Given the description of an element on the screen output the (x, y) to click on. 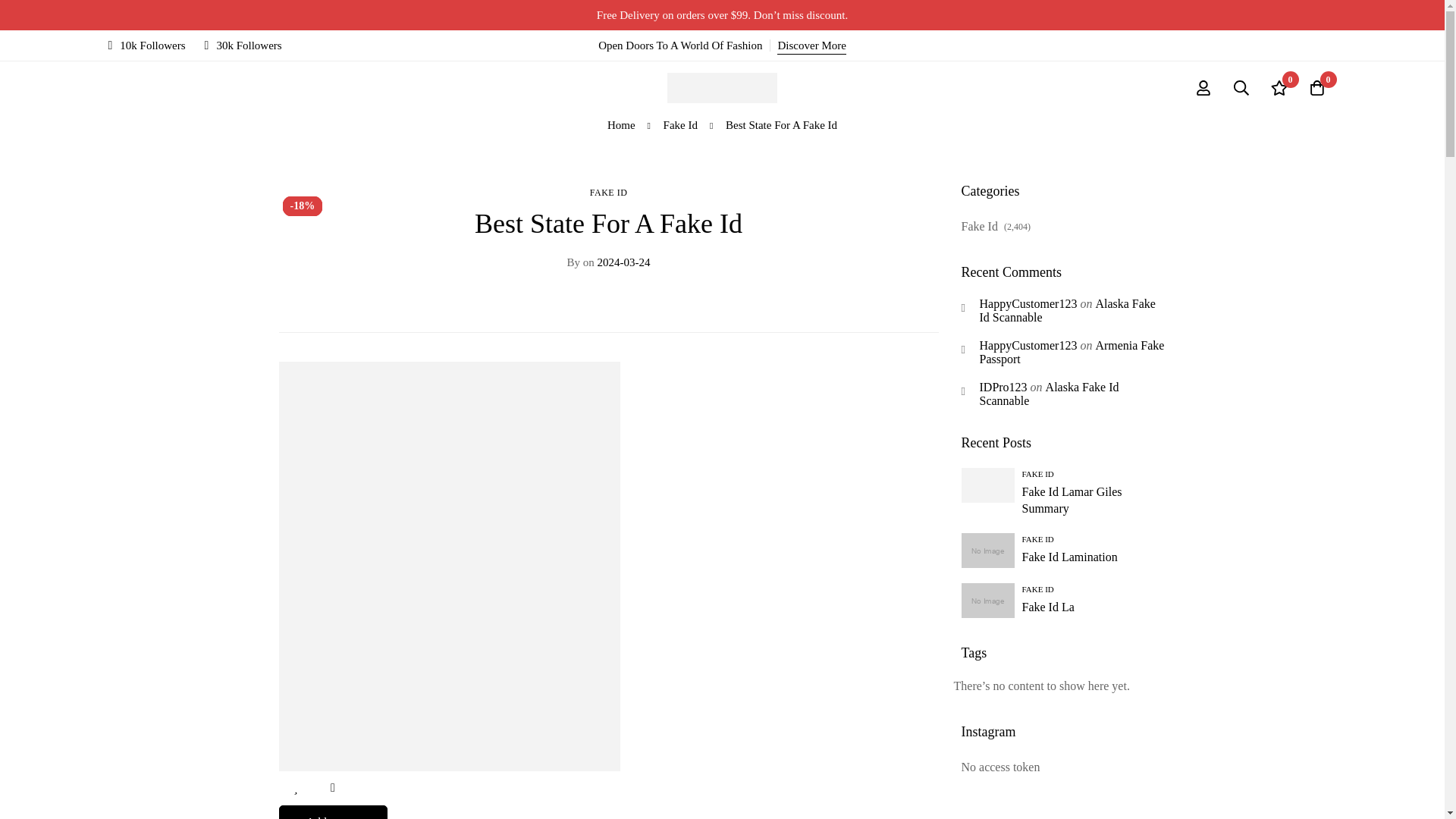
Home (620, 125)
Fake Id (680, 125)
FAKE ID (608, 192)
0 (1317, 87)
Quick view (332, 788)
Add to cart (333, 812)
0 (1279, 87)
Discover More (811, 45)
Add to wishlist (296, 788)
